Given the description of an element on the screen output the (x, y) to click on. 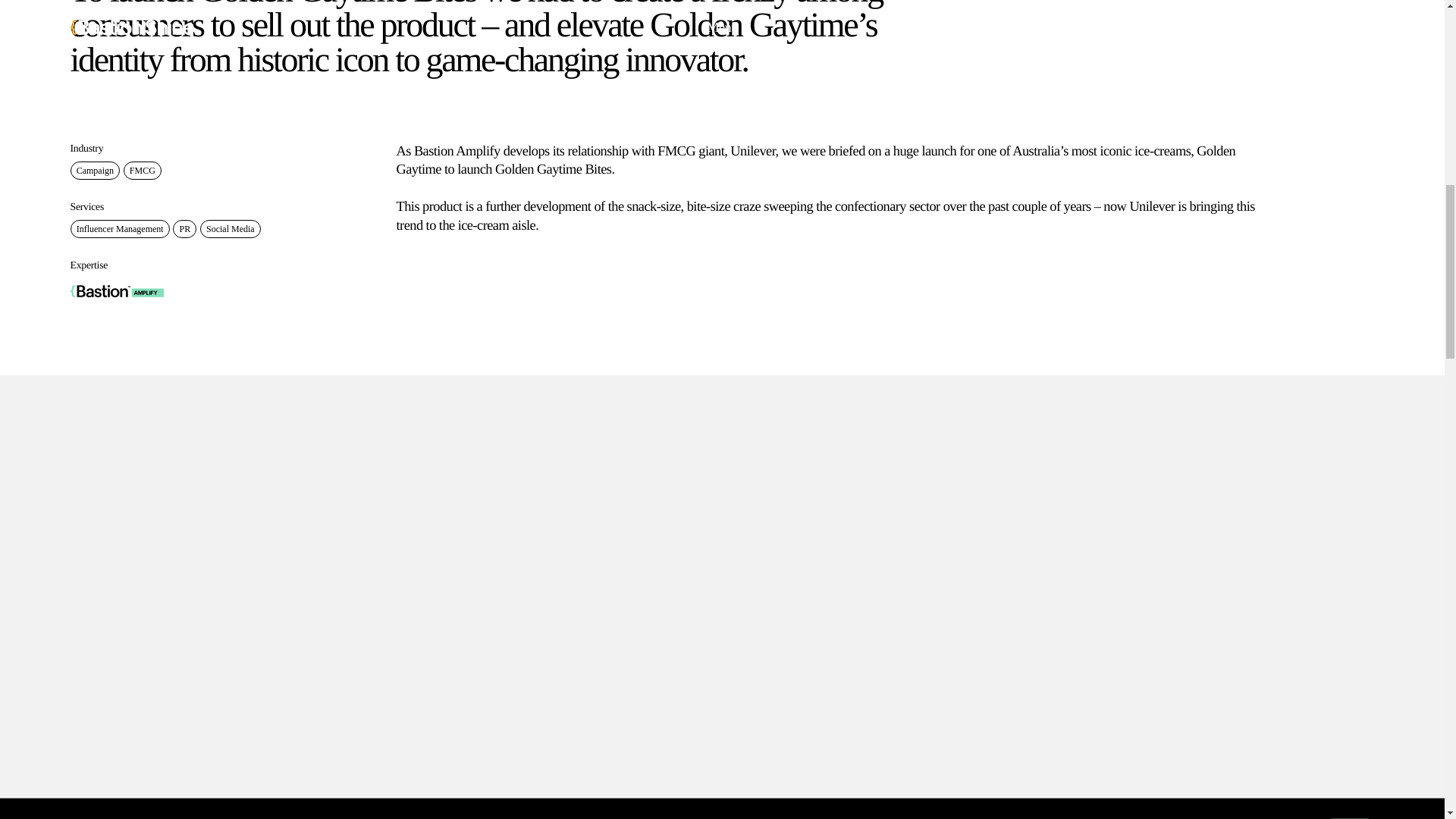
Privacy Policy (644, 12)
Accept (1349, 12)
